Given the description of an element on the screen output the (x, y) to click on. 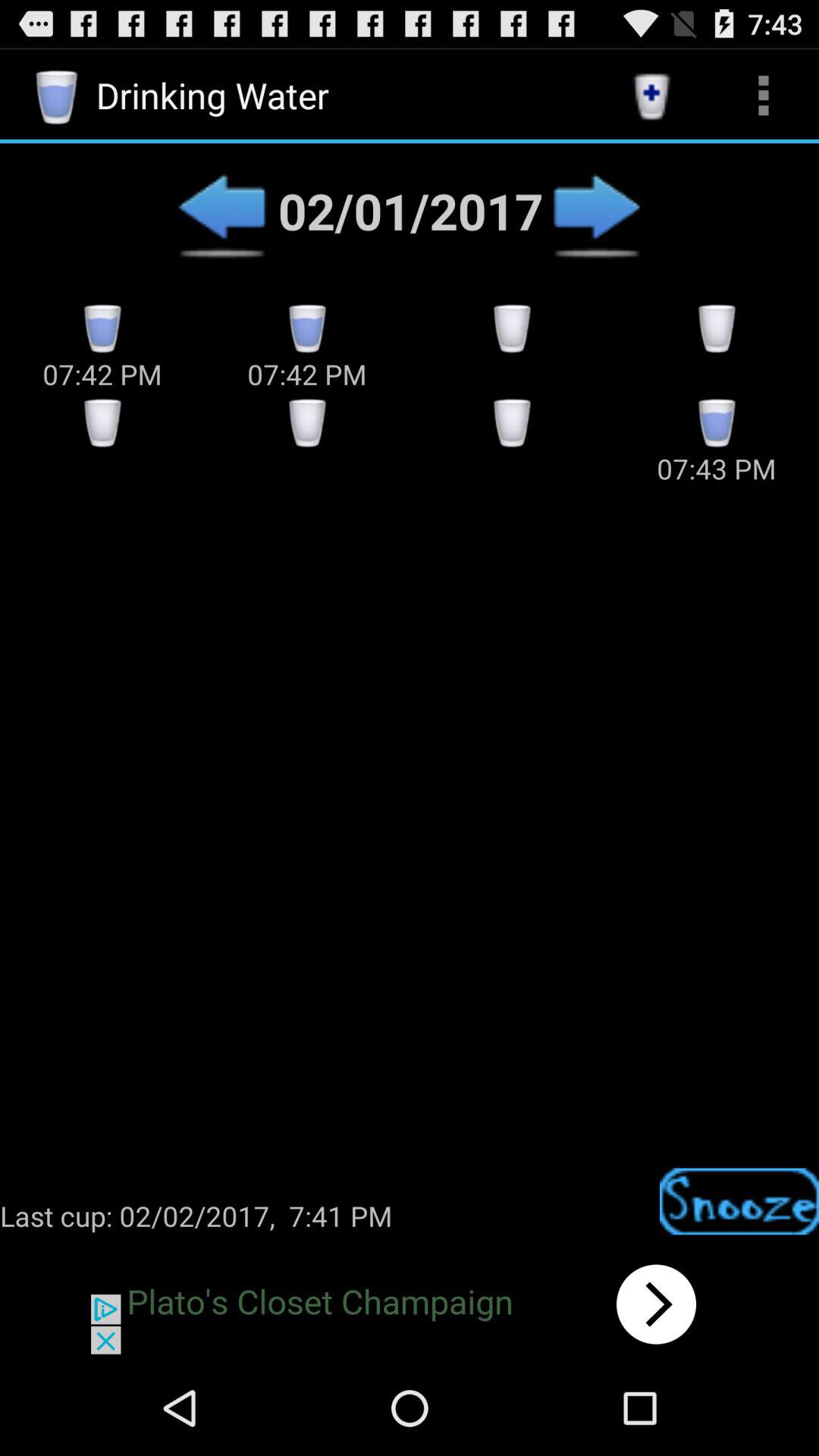
goes to previous day (221, 210)
